Given the description of an element on the screen output the (x, y) to click on. 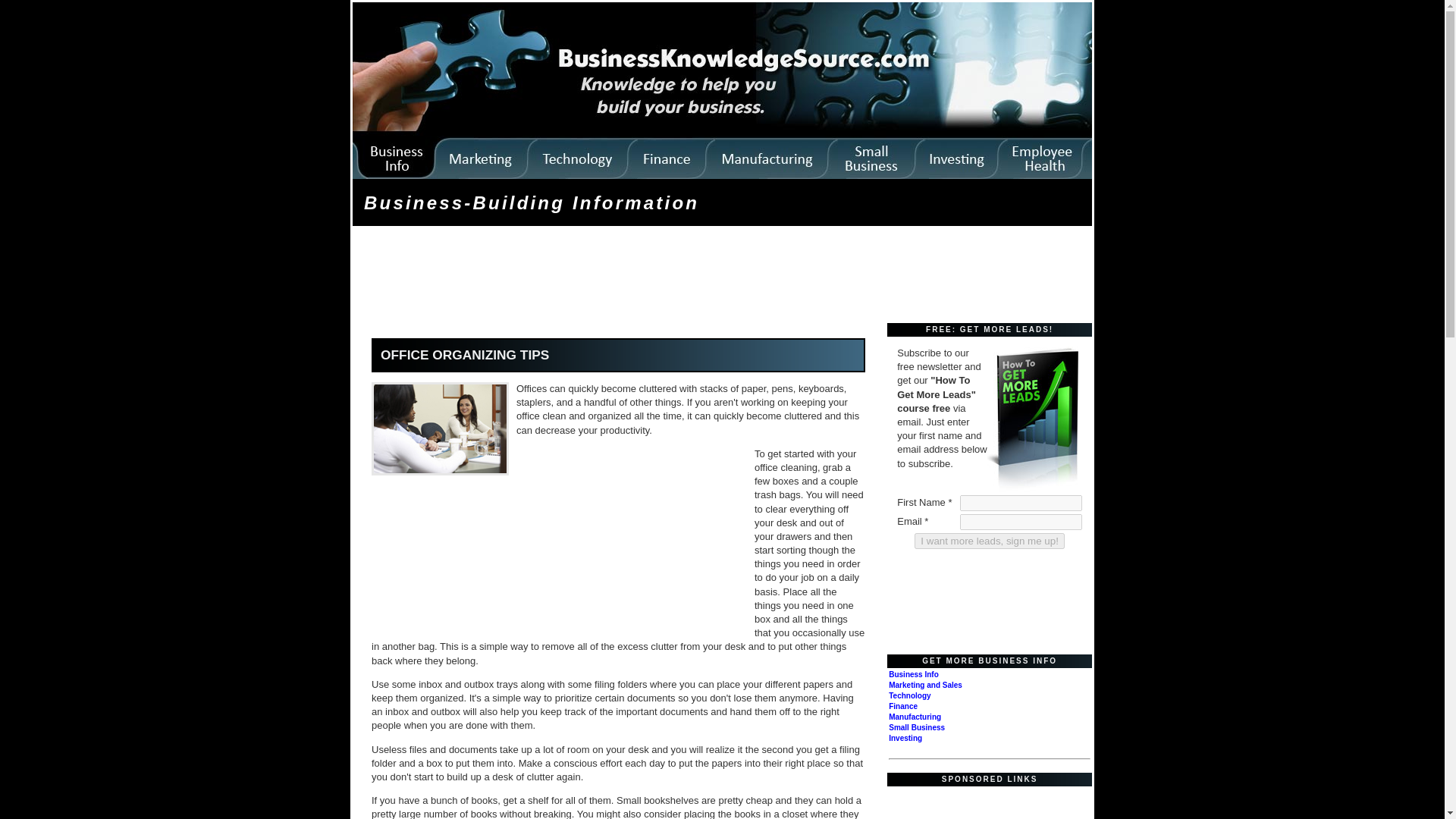
Finance (902, 705)
I want more leads, sign me up! (989, 540)
Advertisement (631, 543)
Advertisement (631, 275)
Advertisement (981, 802)
Business Info (913, 674)
Business-Building Information (531, 202)
Investing (904, 737)
Technology (909, 695)
Small Business (916, 727)
